Given the description of an element on the screen output the (x, y) to click on. 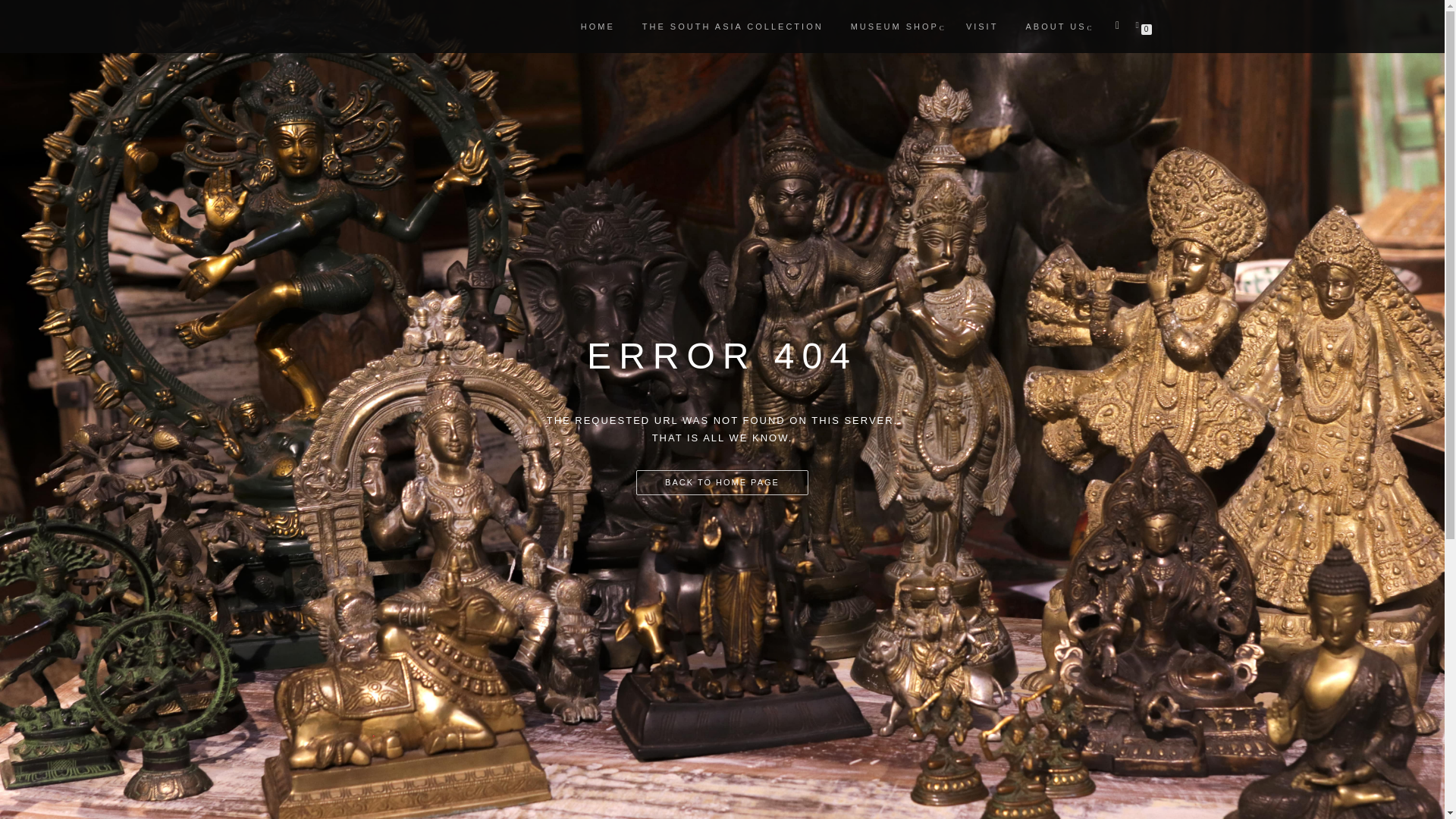
THE SOUTH ASIA COLLECTION (732, 26)
HOME (597, 26)
MUSEUM SHOP (895, 26)
BACK TO HOME PAGE (722, 483)
ABOUT US (1055, 26)
View your shopping basket (1139, 23)
VISIT (982, 26)
0 (1139, 23)
